Given the description of an element on the screen output the (x, y) to click on. 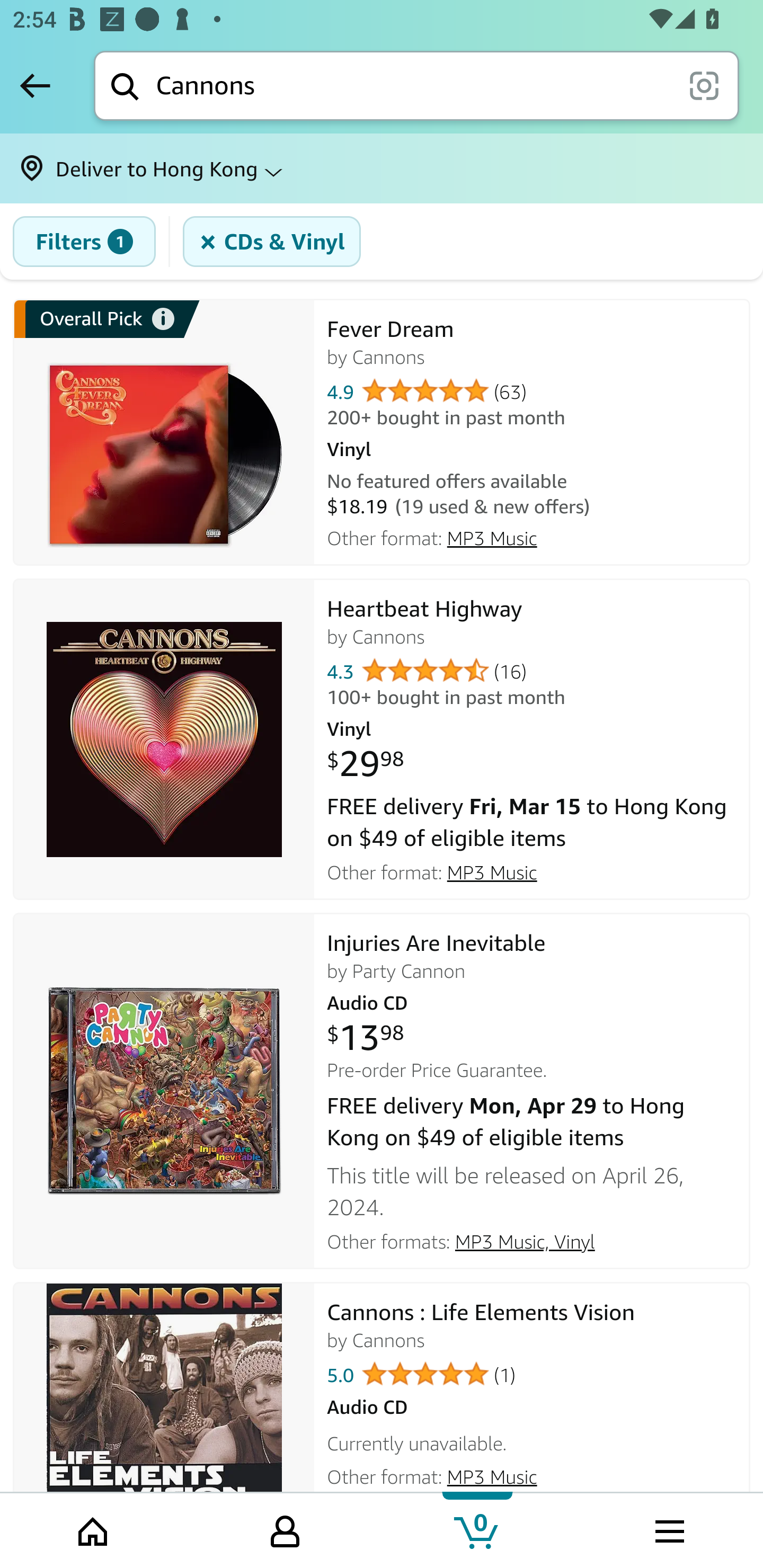
Back (35, 85)
Search Search Cannons scan it (416, 85)
scan it (704, 85)
Deliver to Hong Kong ⌵ (381, 168)
Filters 1 (83, 241)
× CDs & Vinyl × CDs & Vinyl (272, 241)
Fever Dream by Cannons Fever Dream by  Cannons (532, 341)
Heartbeat Highway (164, 740)
Injuries Are Inevitable (164, 1091)
Cannons : Life Elements Vision (164, 1400)
Home Tab 1 of 4 (94, 1529)
Your Amazon.com Tab 2 of 4 (285, 1529)
Cart 0 item Tab 3 of 4 0 (477, 1529)
Browse menu Tab 4 of 4 (668, 1529)
